Given the description of an element on the screen output the (x, y) to click on. 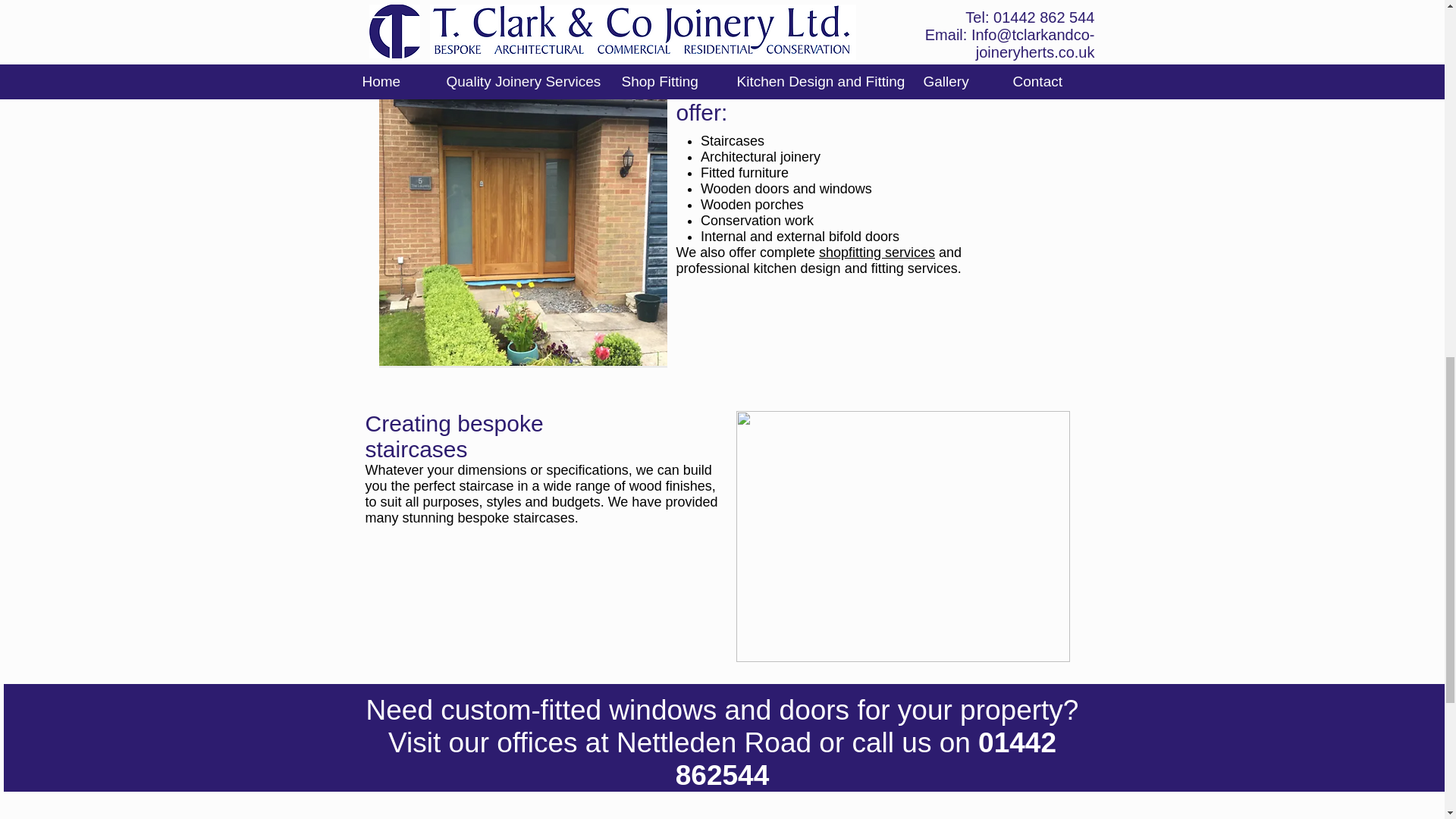
Home (910, 818)
Capture.PNG (901, 536)
shopfitting services (876, 252)
Capture.PNG (522, 220)
Talk to the experts (721, 11)
